Given the description of an element on the screen output the (x, y) to click on. 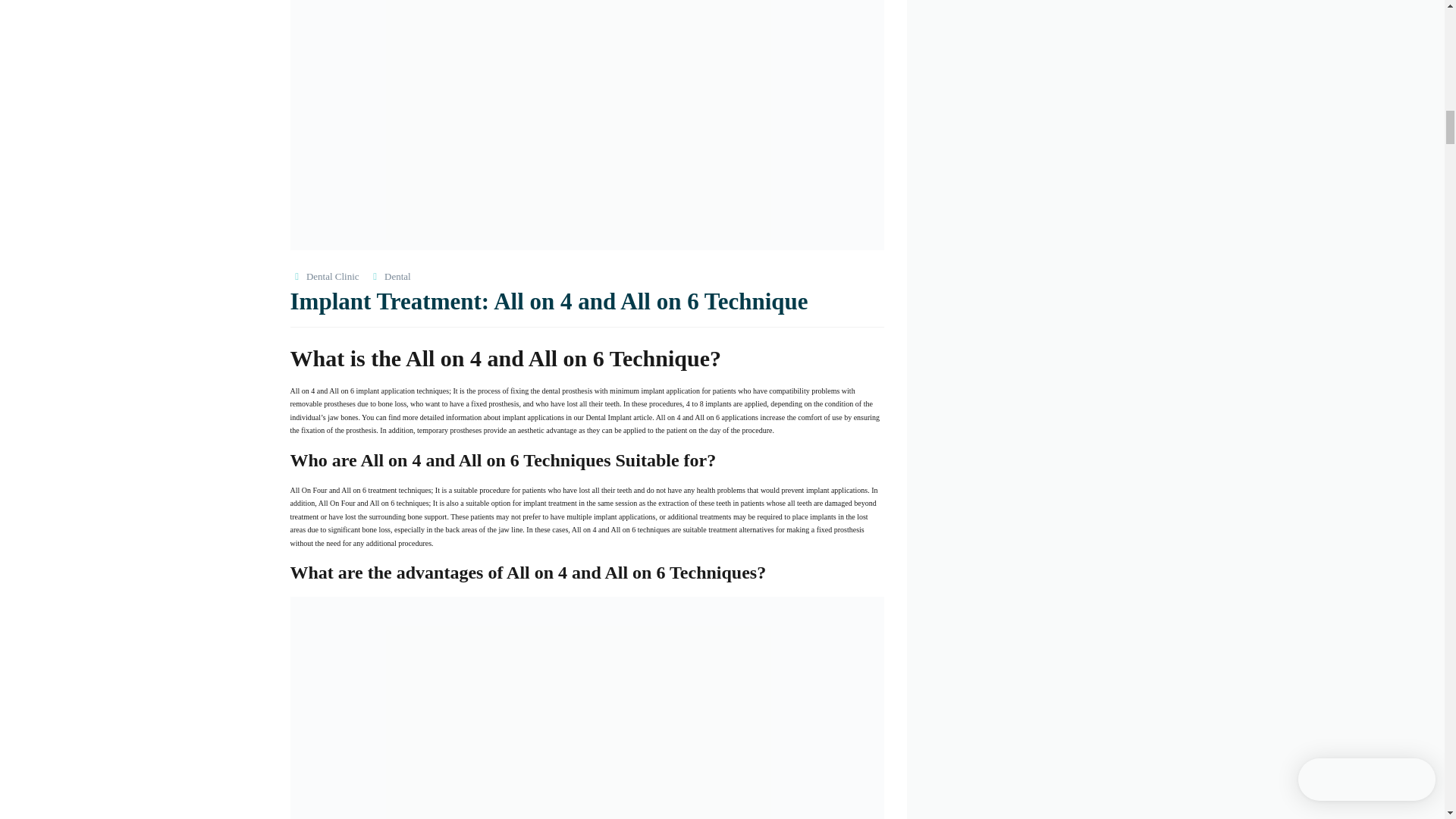
Dental Clinic (332, 276)
Dental (397, 276)
Implant Treatment: All on 4 and All on 6 Technique (548, 301)
